Given the description of an element on the screen output the (x, y) to click on. 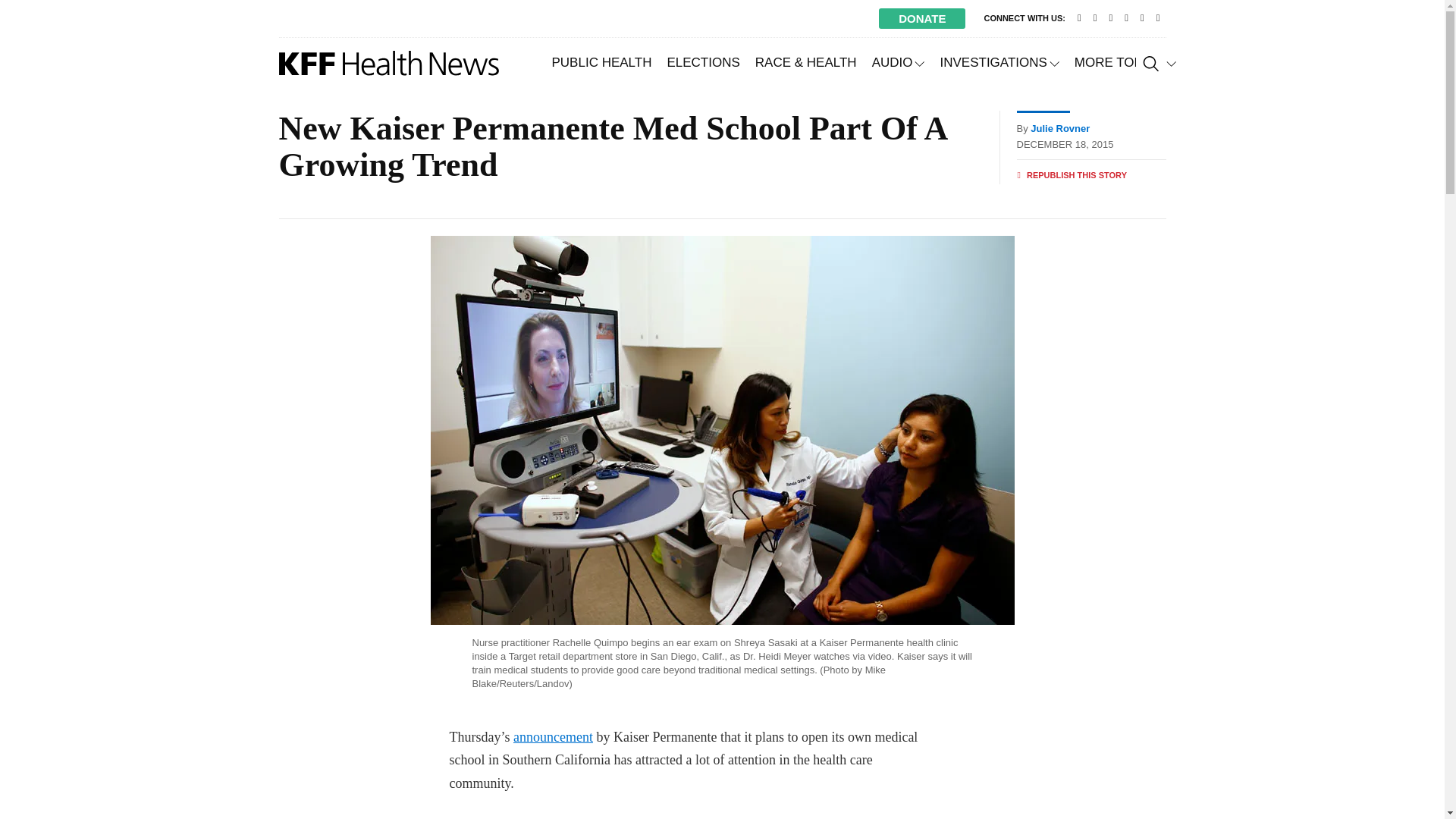
ELECTIONS (702, 61)
INVESTIGATIONS (998, 61)
PUBLIC HEALTH (601, 61)
Click to share (1071, 175)
MORE TOPICS (1125, 61)
AUDIO (898, 61)
KFF Health News (389, 63)
DONATE (922, 18)
